Given the description of an element on the screen output the (x, y) to click on. 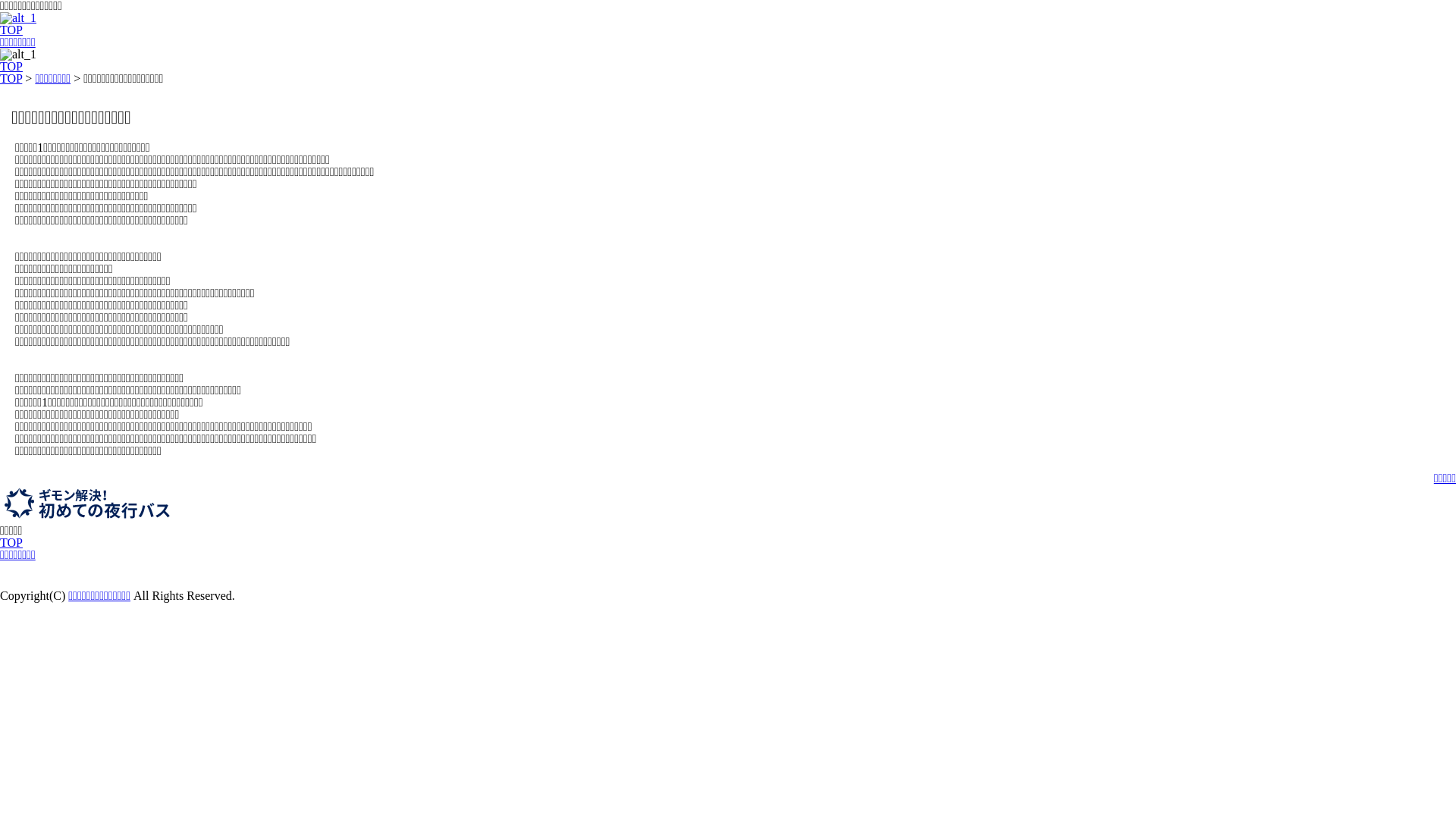
TOP Element type: text (10, 78)
TOP Element type: text (11, 65)
TOP Element type: text (11, 542)
TOP Element type: text (11, 29)
